Given the description of an element on the screen output the (x, y) to click on. 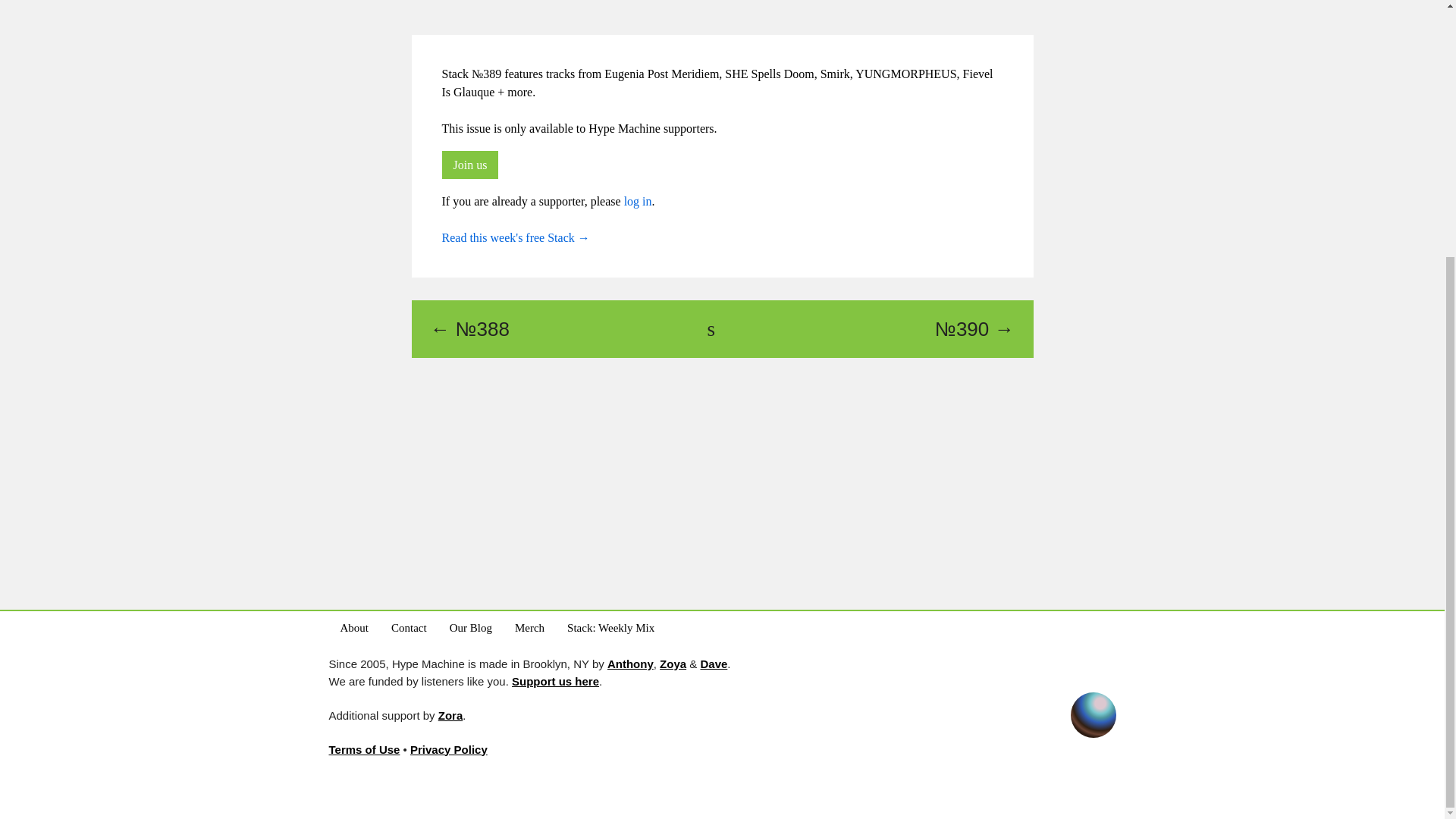
Contact (409, 627)
Join us (469, 164)
log in (638, 201)
Zora (450, 715)
About (354, 627)
Zoya Feldman (672, 663)
Merch (529, 627)
Anthony (630, 663)
Support us here (555, 680)
Zoya (672, 663)
Stack: Weekly Mix (610, 627)
Dave Sutton (713, 663)
Our Blog (470, 627)
Anthony Volodkin (630, 663)
Dave (713, 663)
